Given the description of an element on the screen output the (x, y) to click on. 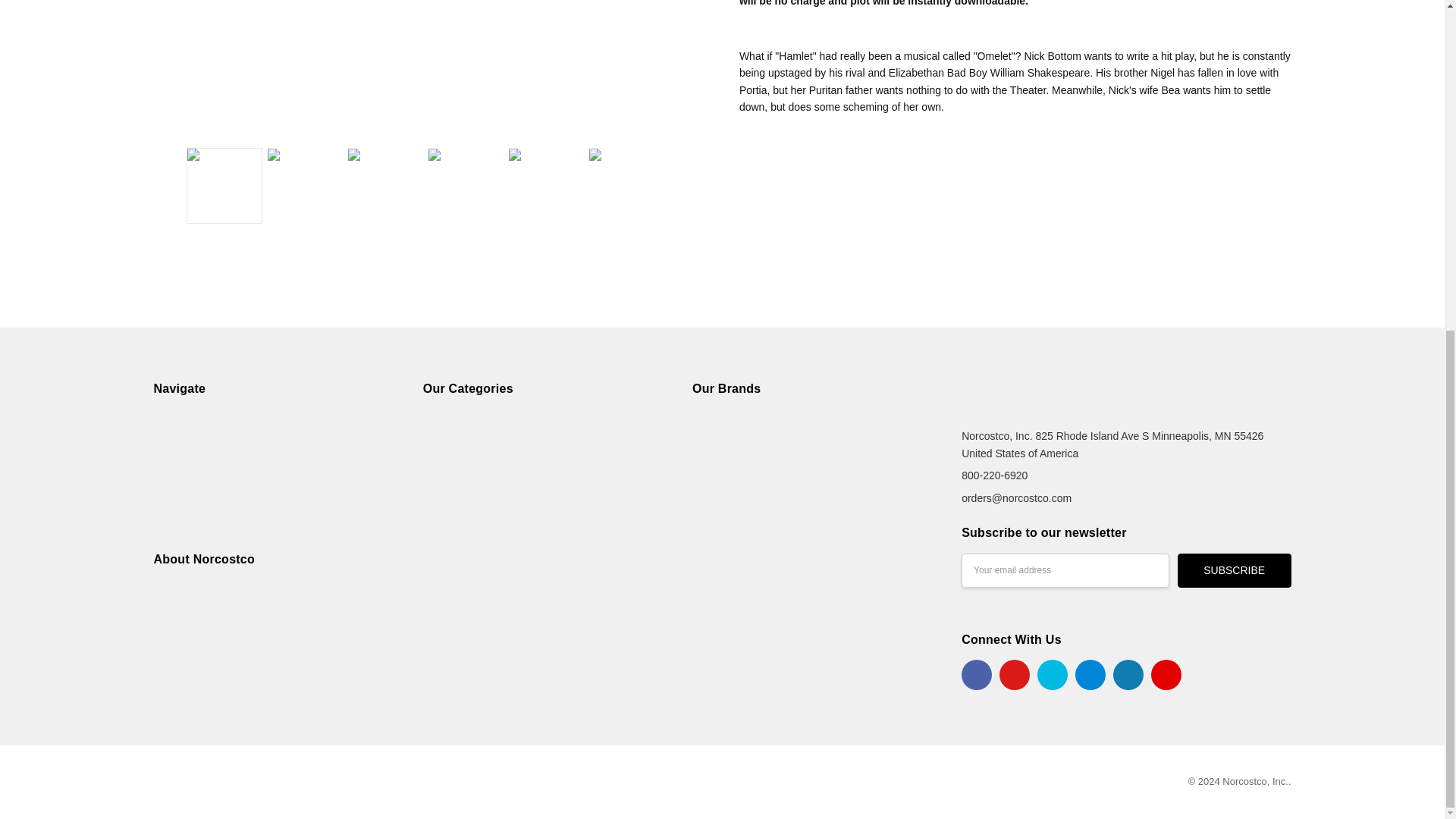
doublets and breeches (385, 185)
Something Rotten! title image (428, 68)
Something Rotten! title image (224, 185)
Brother Jeremiah and Portia (625, 185)
Bea and friends (545, 185)
Subscribe (1234, 570)
Lord Clapham (465, 185)
Elizabethan (304, 185)
